Given the description of an element on the screen output the (x, y) to click on. 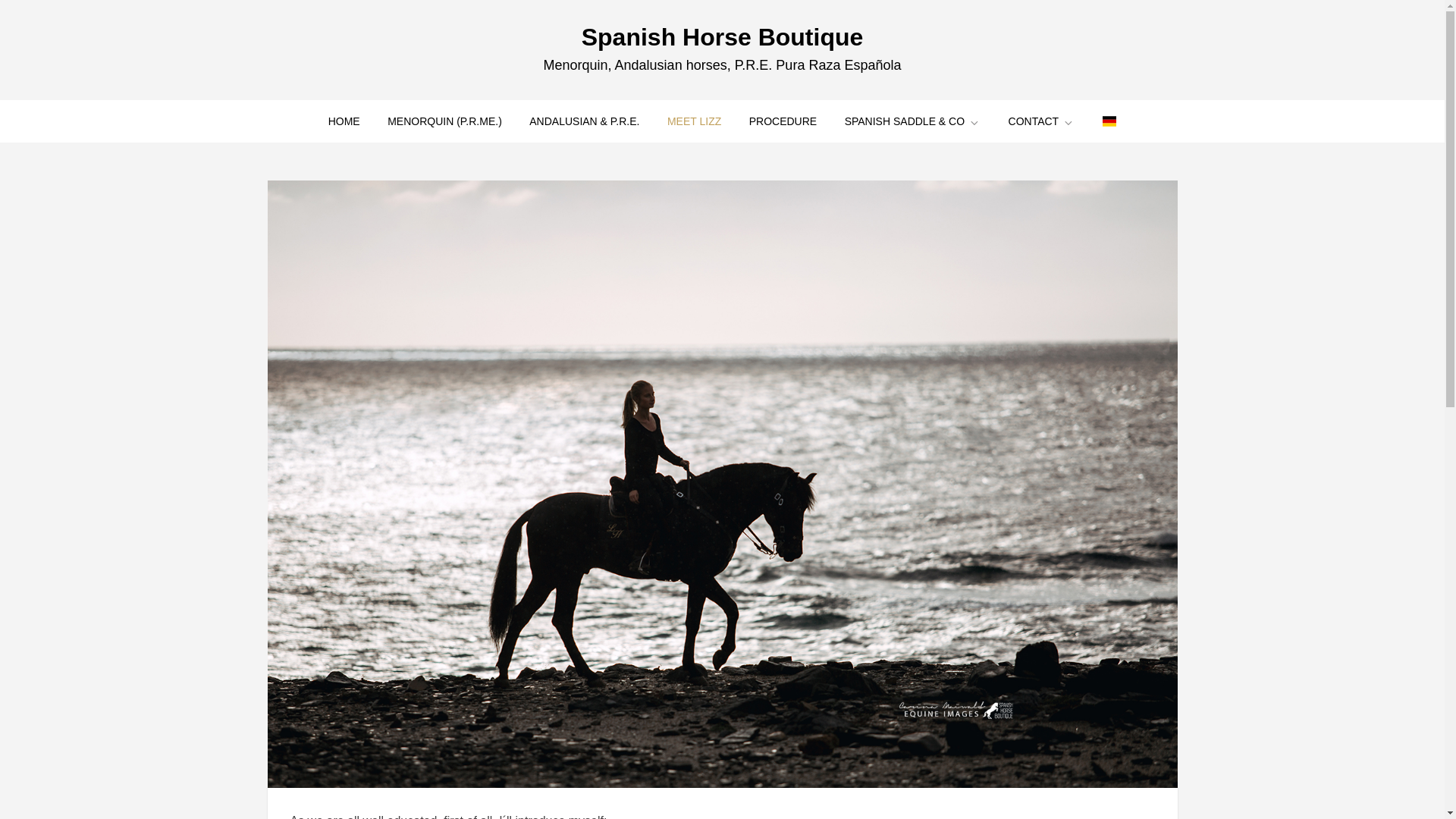
CONTACT (1041, 120)
Spanish Horse Boutique (721, 36)
MEET LIZZ (694, 120)
HOME (343, 120)
PROCEDURE (782, 120)
